Given the description of an element on the screen output the (x, y) to click on. 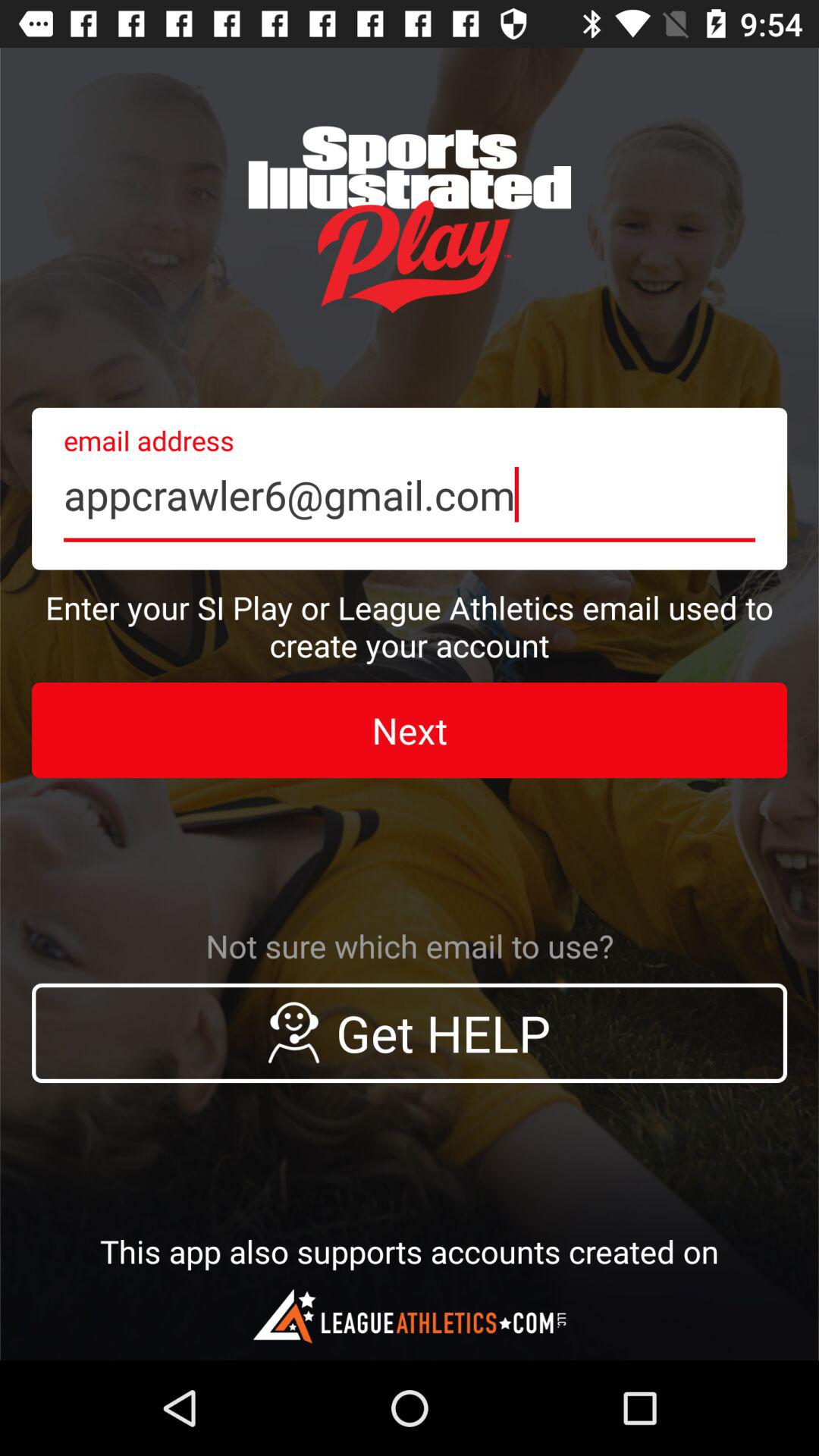
click the item above the not sure which item (409, 730)
